Given the description of an element on the screen output the (x, y) to click on. 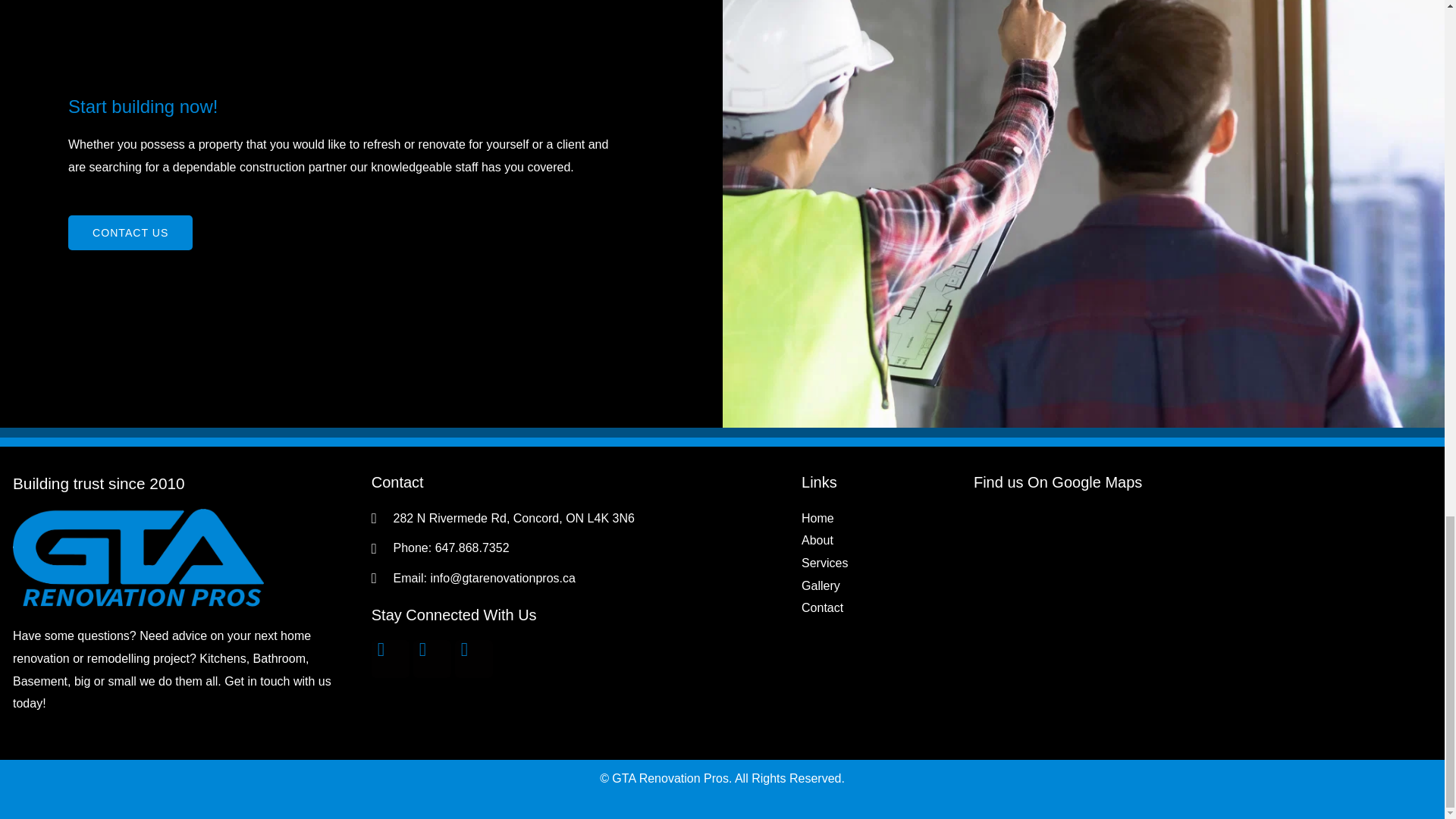
 282 N Rivermede Rd, Concord, ON L4K 3N6 (1202, 599)
